Given the description of an element on the screen output the (x, y) to click on. 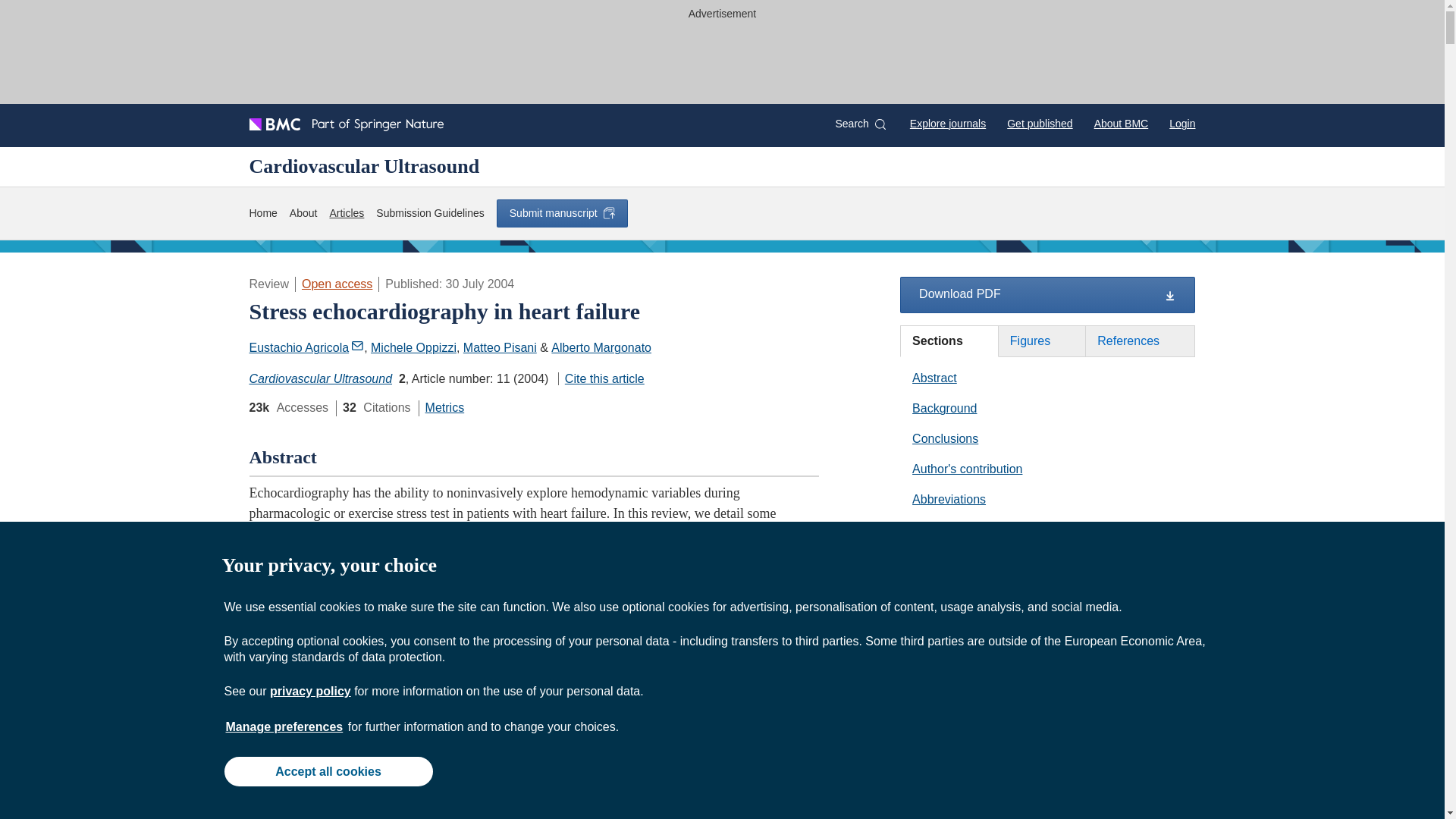
Metrics (444, 407)
Articles (346, 212)
Cite this article (601, 378)
Manage preferences (284, 726)
Login (1182, 123)
Cardiovascular Ultrasound (363, 166)
Submit manuscript (561, 212)
Explore journals (947, 123)
Cardiovascular Ultrasound (319, 378)
3rd party ad content (722, 59)
